Given the description of an element on the screen output the (x, y) to click on. 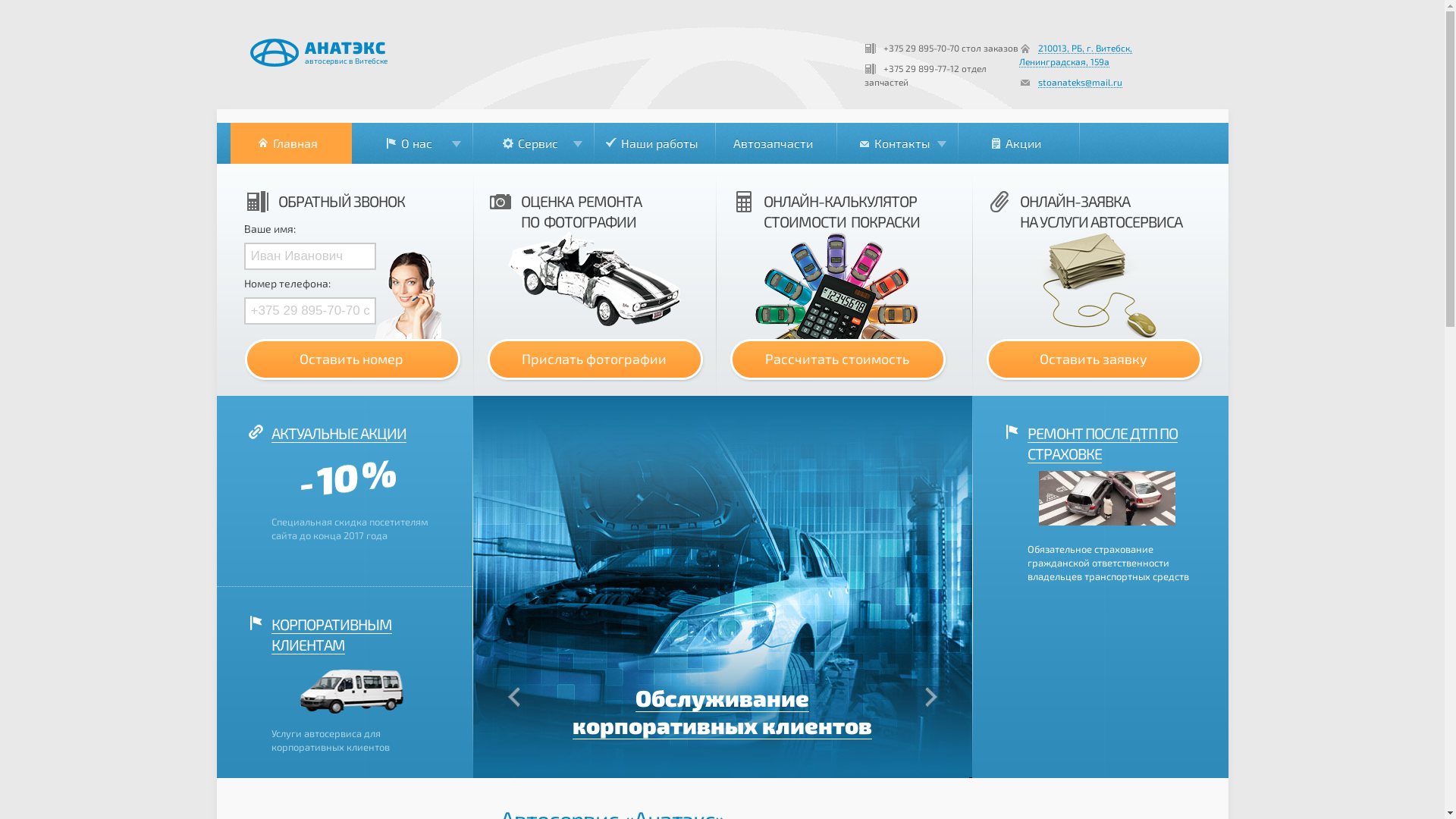
stoanateks@mail.ru Element type: text (1079, 81)
